Given the description of an element on the screen output the (x, y) to click on. 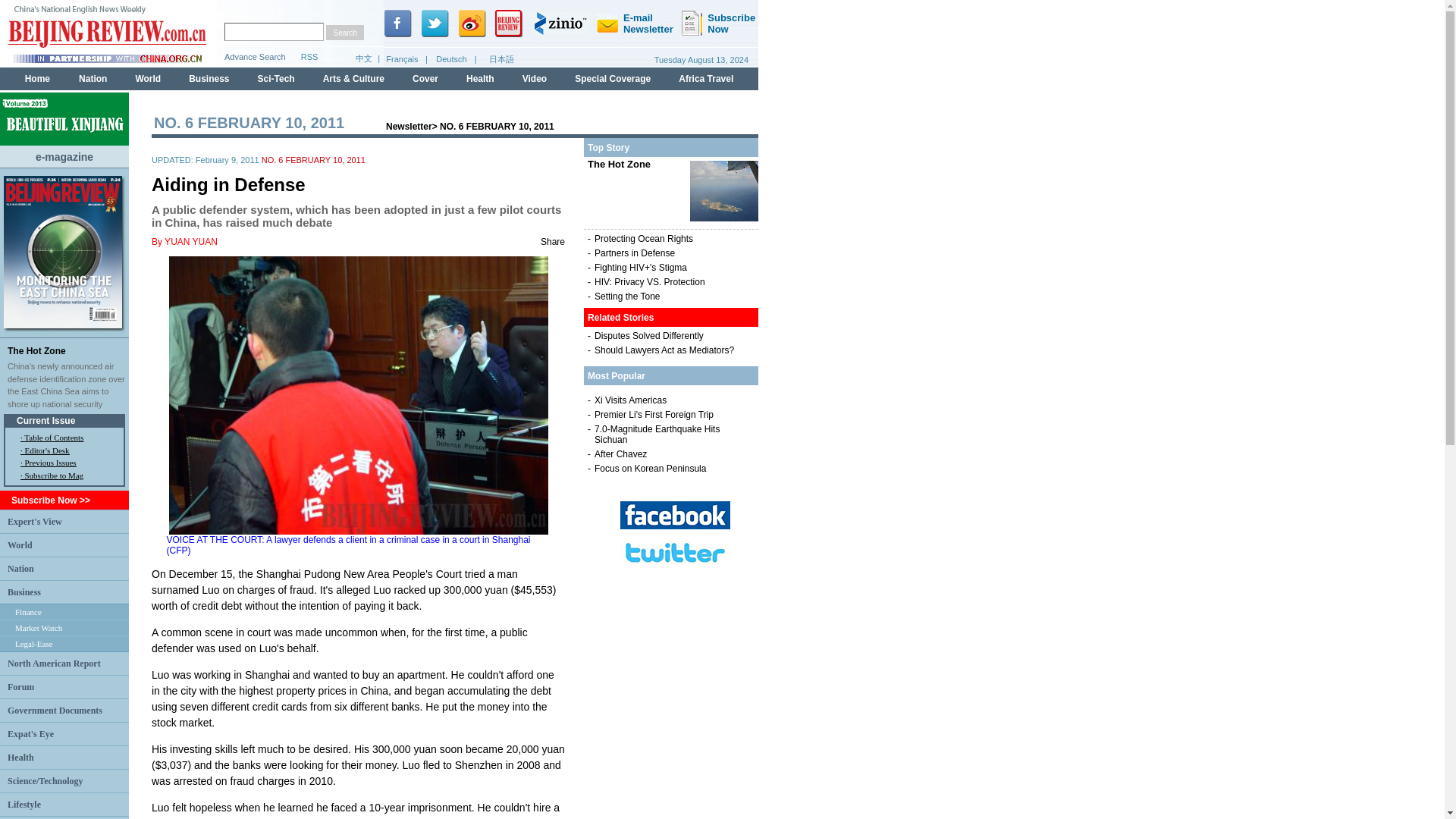
Editor's Desk (46, 450)
World (19, 544)
Forum (20, 685)
Expert's View (34, 520)
Legal-Ease (33, 643)
Finance (28, 611)
Business (23, 592)
Government Documents (54, 710)
North American Report (53, 663)
